Given the description of an element on the screen output the (x, y) to click on. 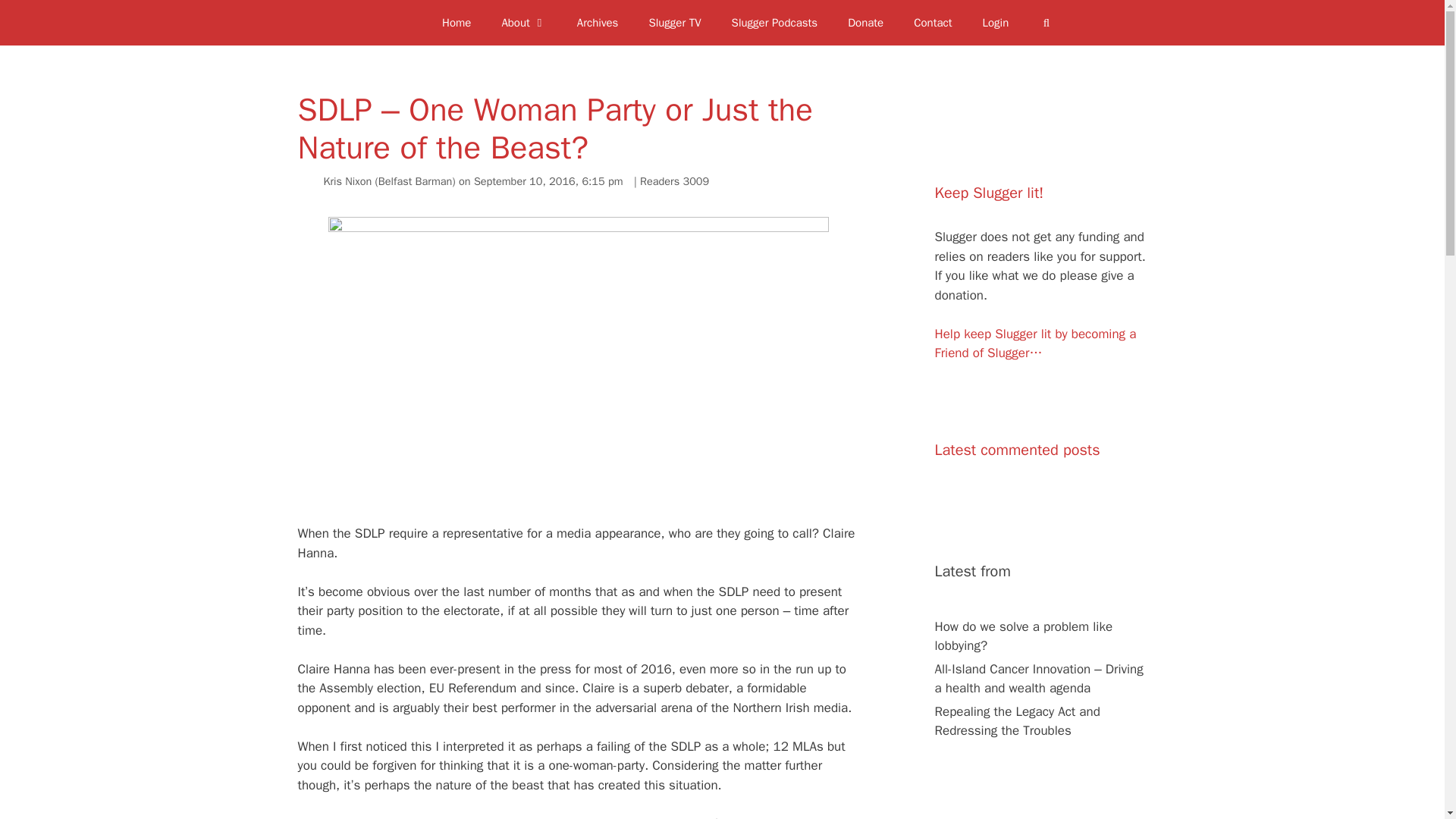
Contact (932, 22)
Login (996, 22)
Slugger TV (674, 22)
Donate (865, 22)
About (523, 22)
Slugger Podcasts (774, 22)
Home (456, 22)
Slugger O'Toole (397, 22)
Archives (597, 22)
